Given the description of an element on the screen output the (x, y) to click on. 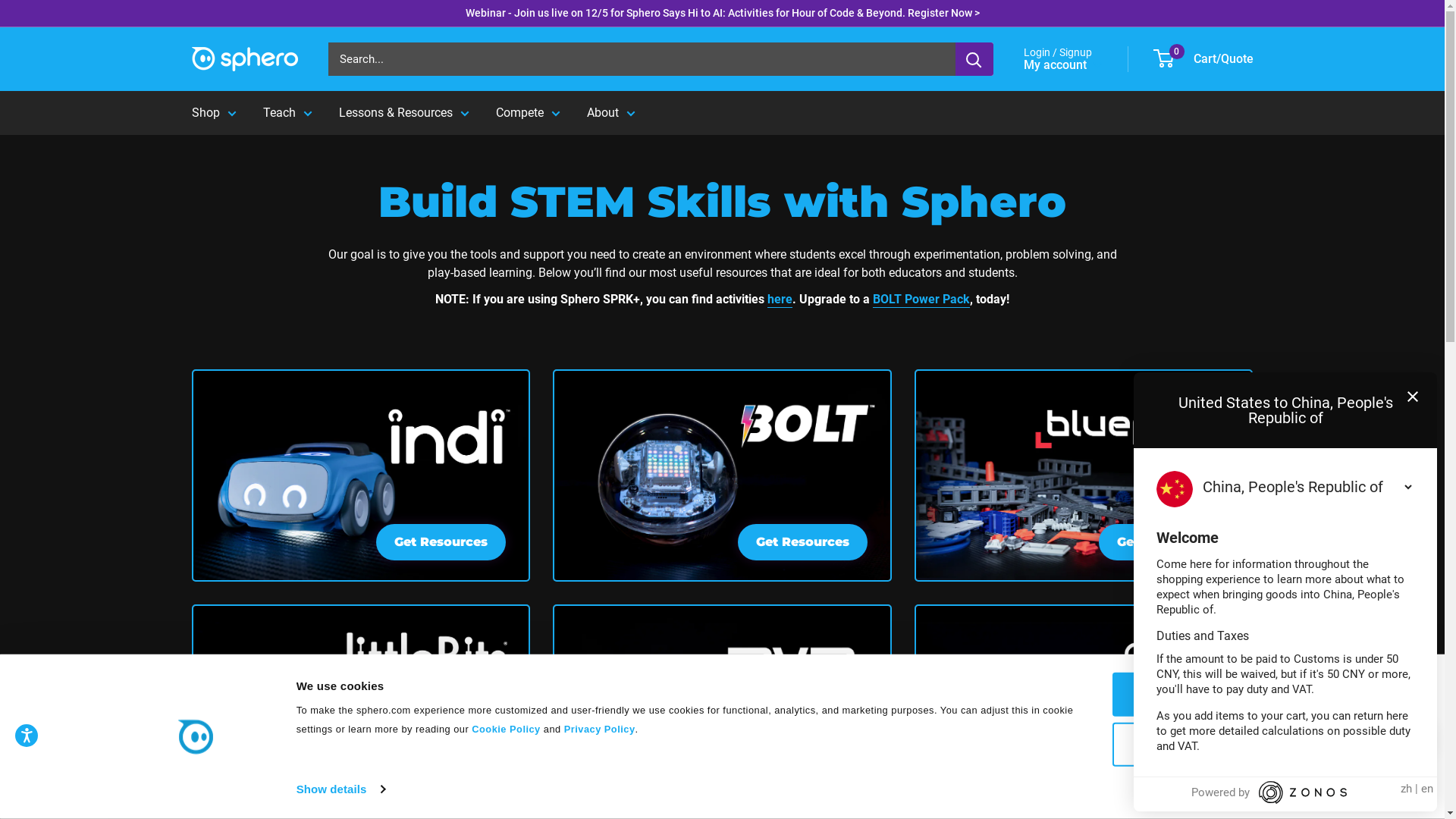
Get Resources Element type: text (1083, 710)
here Element type: text (779, 298)
Lessons & Resources Element type: text (403, 112)
Compete Element type: text (527, 112)
OK Element type: text (1219, 694)
My account Element type: text (1062, 65)
 Cookie Policy Element type: text (503, 728)
About Element type: text (610, 112)
Teach Element type: text (286, 112)
Open Zonos Hello Element type: hover (1411, 738)
BOLT Power Pack Element type: text (920, 298)
Shop Element type: text (213, 112)
Cookie Settings Element type: text (1219, 743)
Get Resources Element type: text (721, 475)
Get Resources Element type: text (721, 710)
Get Resources Element type: text (1083, 475)
0
Cart/Quote Element type: text (1203, 59)
Get Resources Element type: text (360, 710)
Get Resources Element type: text (360, 475)
Privacy Policy Element type: text (599, 728)
Show details Element type: text (340, 789)
